Given the description of an element on the screen output the (x, y) to click on. 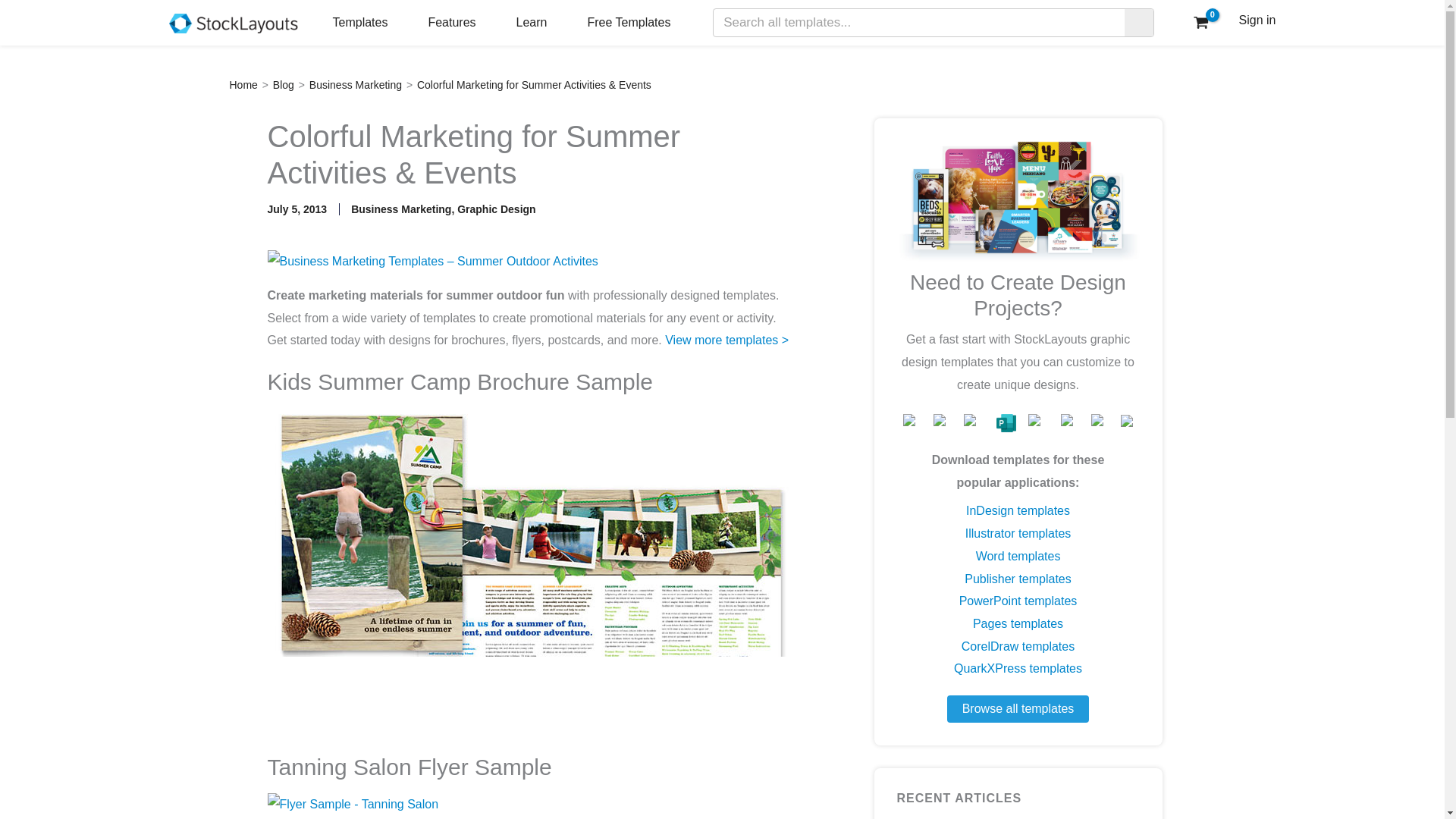
Home (242, 84)
Business Marketing (354, 84)
Blog (283, 84)
